Given the description of an element on the screen output the (x, y) to click on. 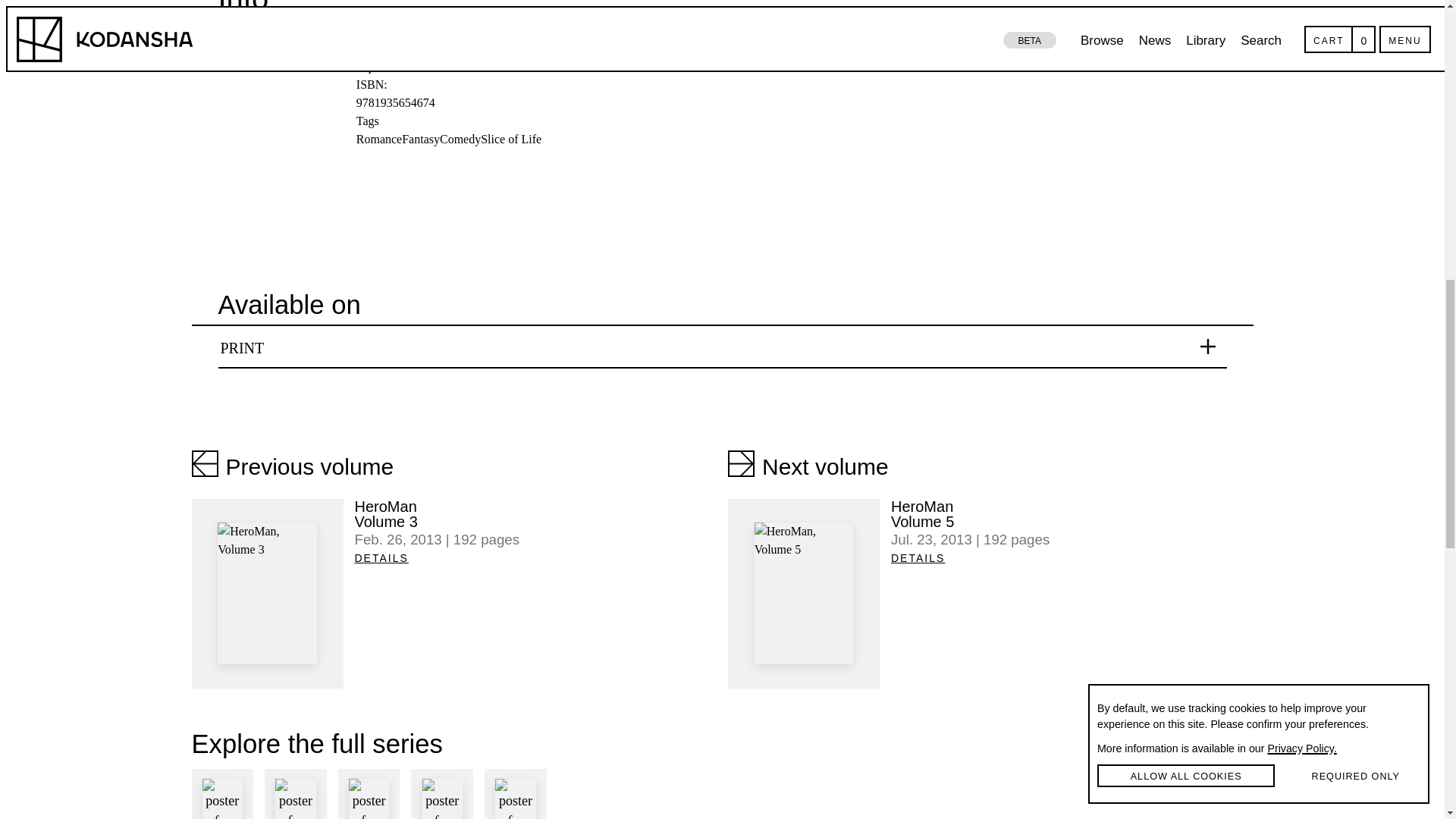
Next volume (808, 464)
Previous volume (536, 513)
DETAILS (291, 464)
